Given the description of an element on the screen output the (x, y) to click on. 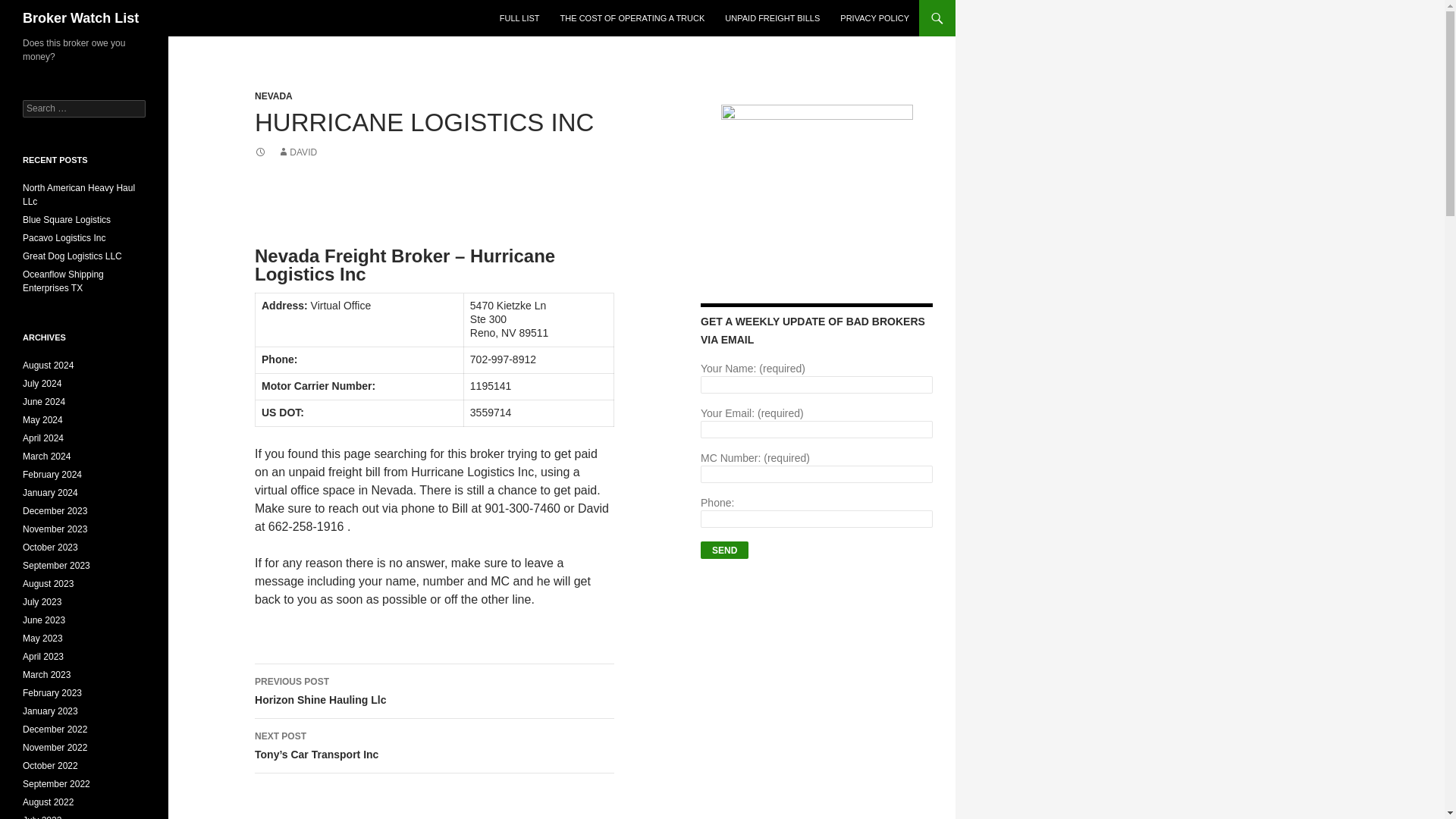
July 2023 (42, 602)
PRIVACY POLICY (874, 18)
Oceanflow Shipping Enterprises TX (63, 281)
THE COST OF OPERATING A TRUCK (632, 18)
FULL LIST (519, 18)
May 2023 (42, 638)
August 2023 (48, 583)
January 2024 (50, 492)
April 2023 (43, 656)
Blue Square Logistics (66, 219)
